Given the description of an element on the screen output the (x, y) to click on. 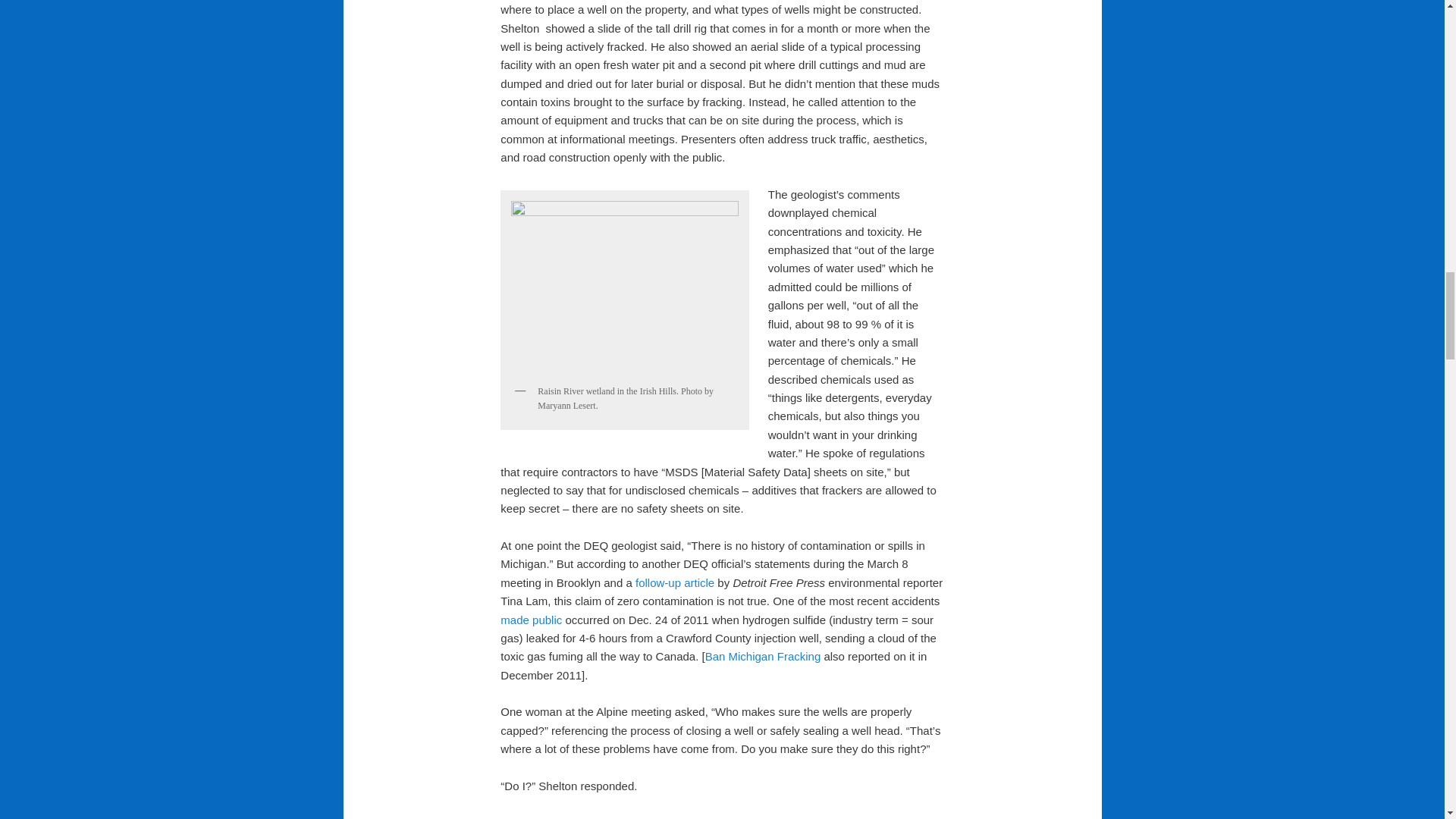
Petoskey News article about H2S (531, 619)
follow-up article (674, 582)
Ban Michigan Fracking (762, 656)
Tina Lam Free Press article on Irish Hills (674, 582)
BMF H2S post (762, 656)
made public (531, 619)
